Given the description of an element on the screen output the (x, y) to click on. 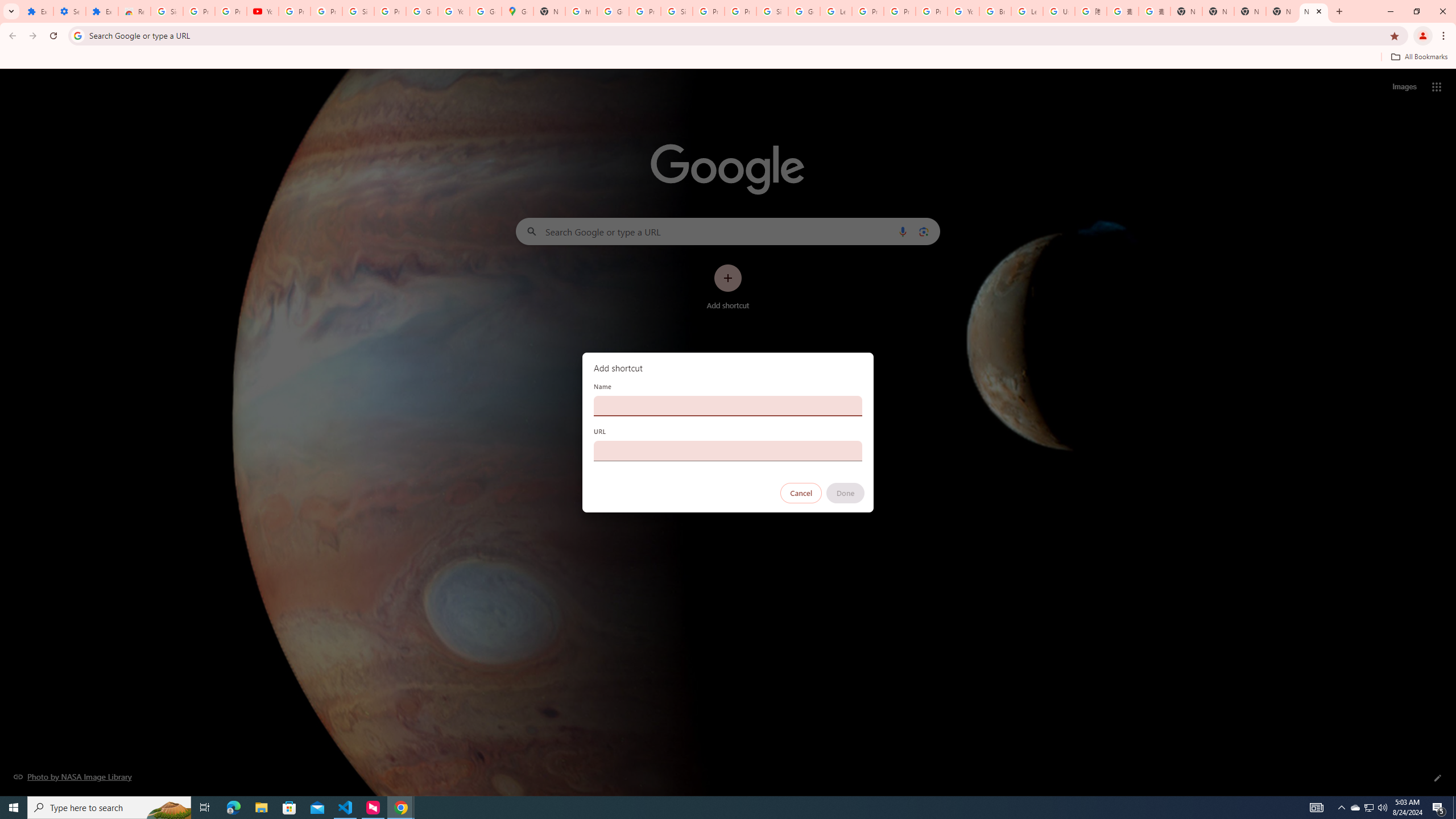
New Tab (1185, 11)
Name (727, 405)
Reviews: Helix Fruit Jump Arcade Game (134, 11)
Privacy Help Center - Policies Help (868, 11)
Extensions (101, 11)
